Given the description of an element on the screen output the (x, y) to click on. 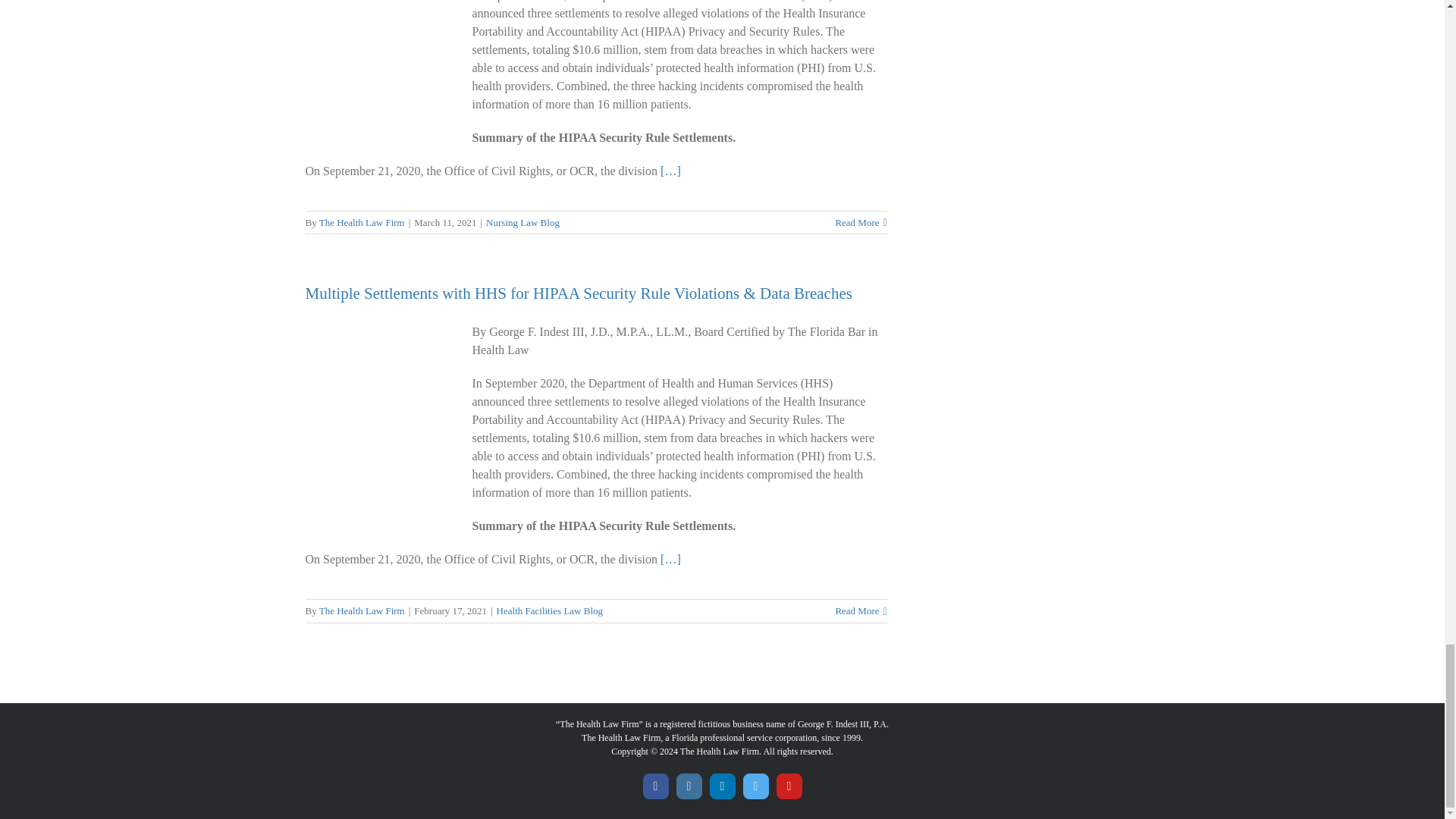
LinkedIn (722, 785)
Facebook (655, 785)
YouTube (789, 785)
Posts by The Health Law Firm (361, 221)
Posts by The Health Law Firm (361, 610)
Instagram (689, 785)
Twitter (755, 785)
